Given the description of an element on the screen output the (x, y) to click on. 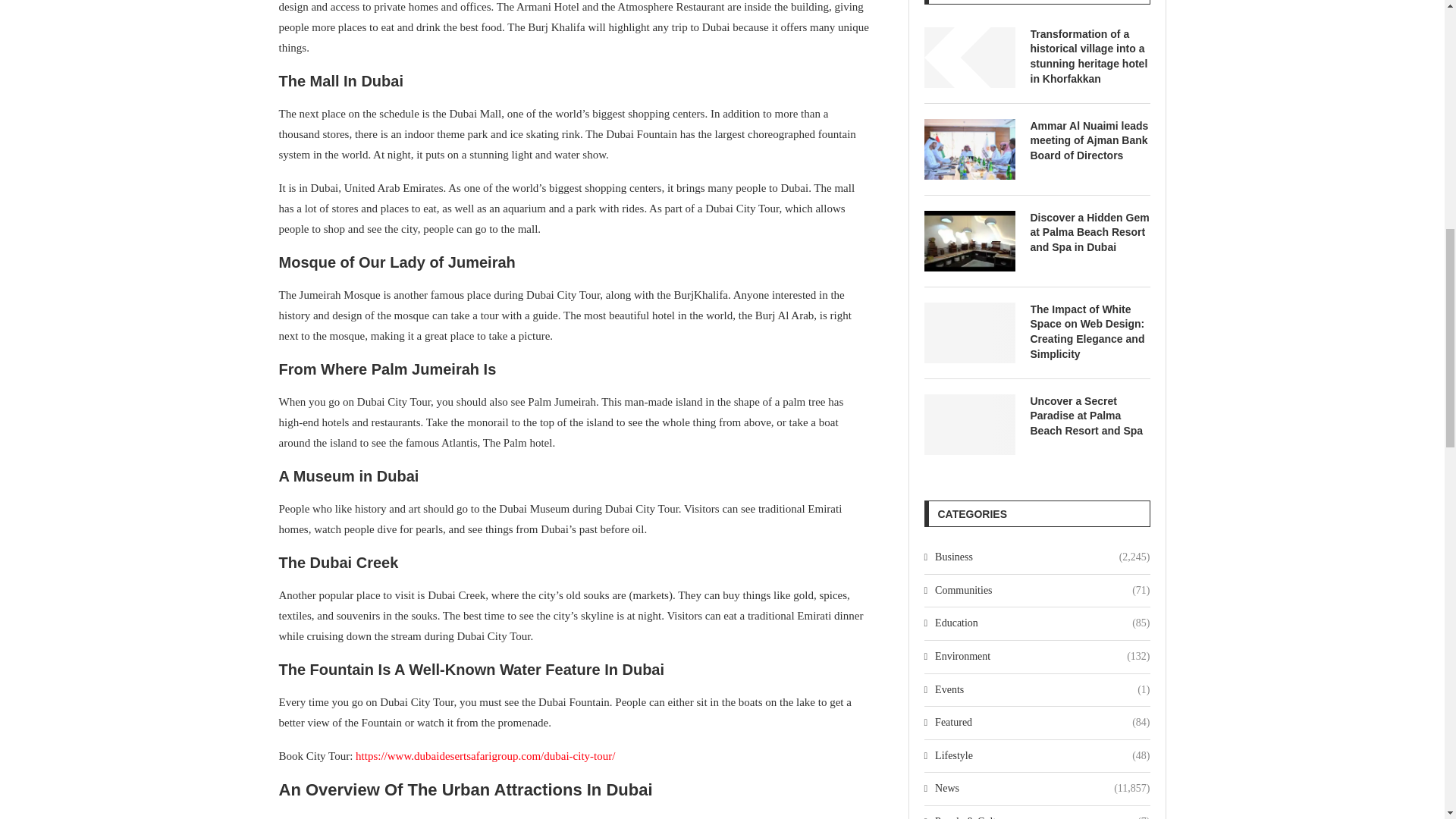
Discover a Hidden Gem at Palma Beach Resort and Spa in Dubai (1089, 232)
Discover a Hidden Gem at Palma Beach Resort and Spa in Dubai (968, 240)
